Given the description of an element on the screen output the (x, y) to click on. 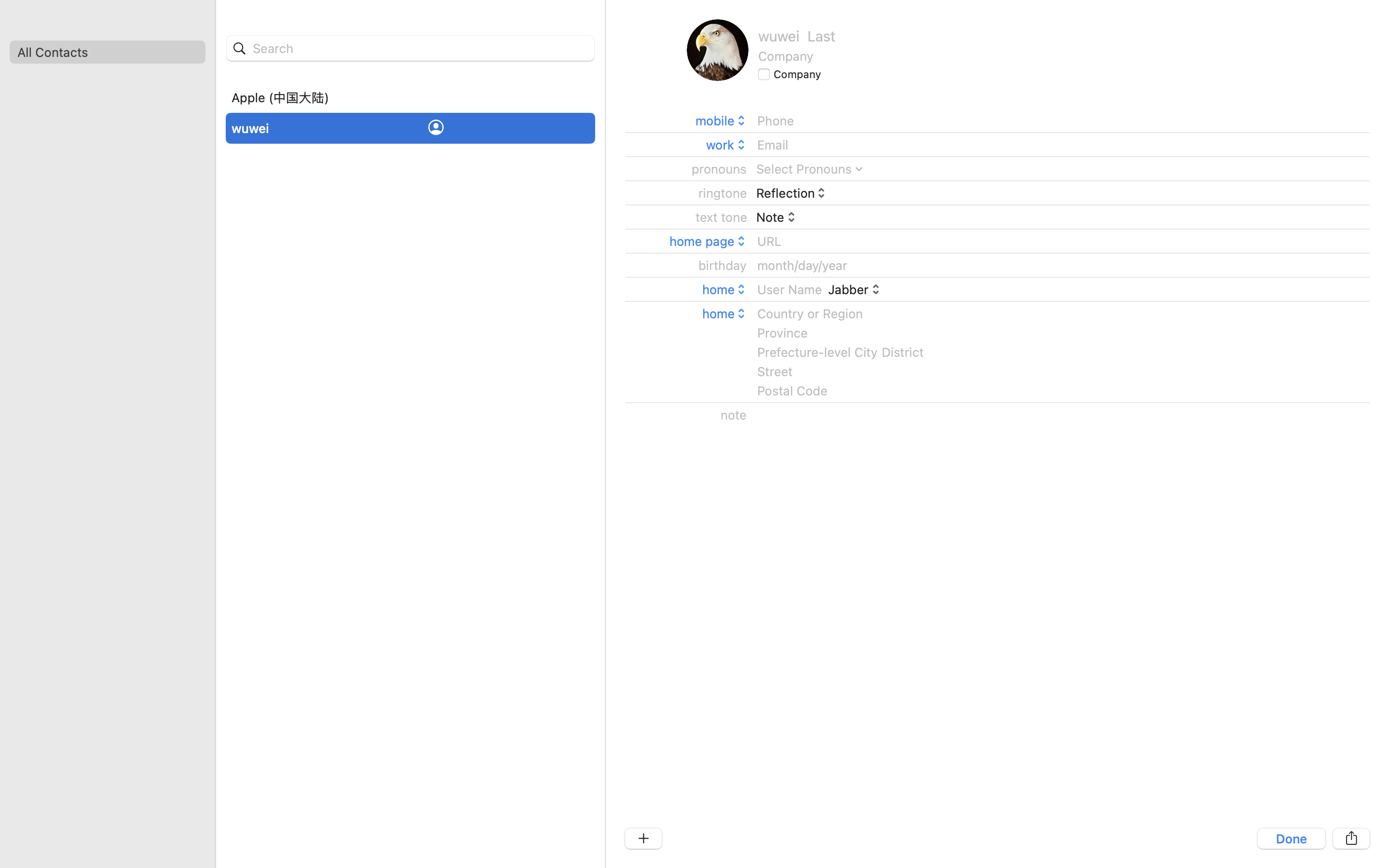
home page Element type: AXStaticText (708, 240)
Reflection Element type: AXPopUpButton (791, 192)
ringtone Element type: AXStaticText (722, 192)
home Element type: AXStaticText (724, 289)
text tone Element type: AXStaticText (721, 216)
